Given the description of an element on the screen output the (x, y) to click on. 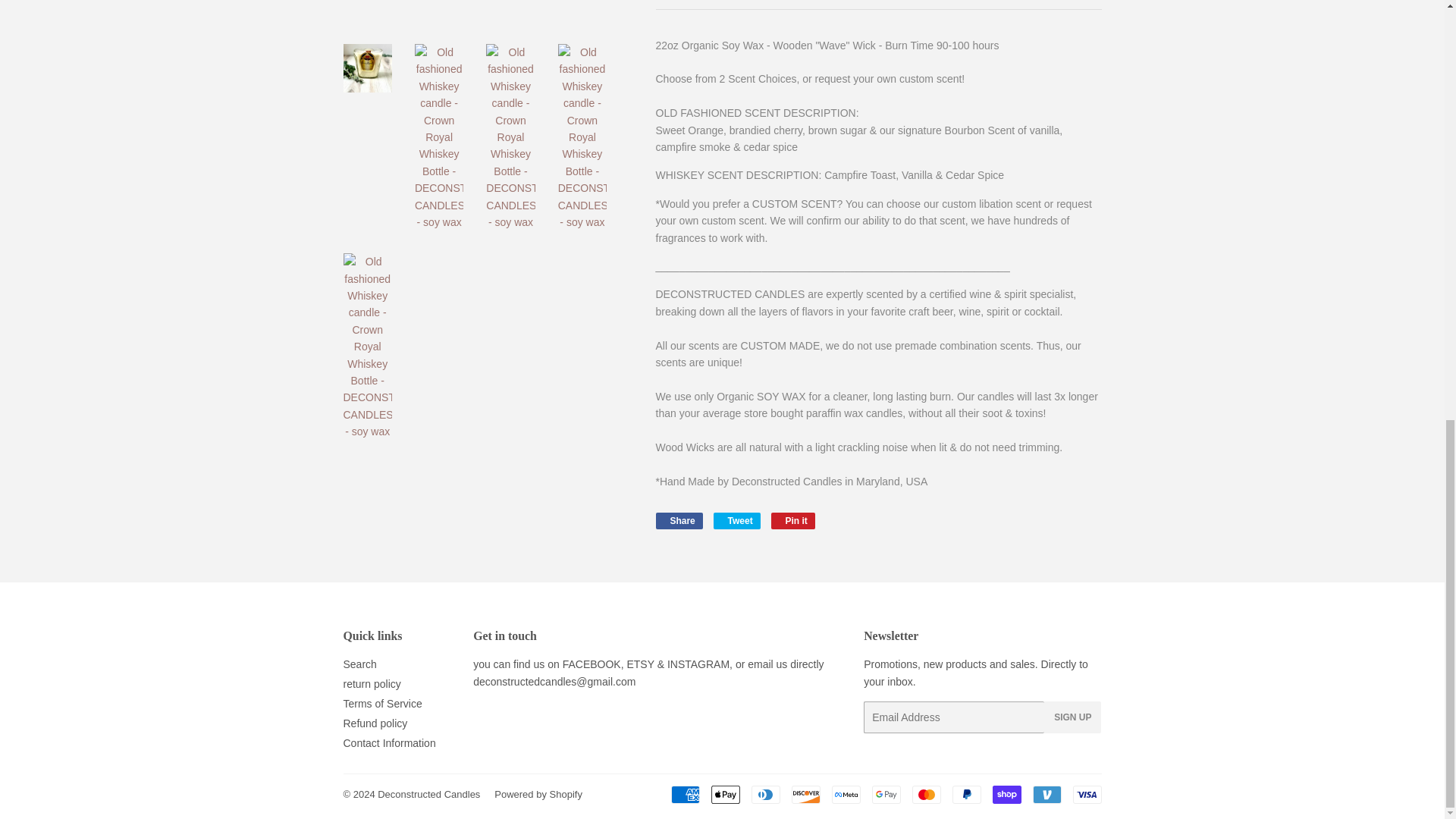
Tweet on Twitter (736, 520)
Share on Facebook (678, 520)
Discover (806, 794)
Diners Club (764, 794)
Visa (1085, 794)
Venmo (1046, 794)
Mastercard (925, 794)
Pin on Pinterest (793, 520)
Meta Pay (845, 794)
Google Pay (886, 794)
PayPal (966, 794)
American Express (683, 794)
Shop Pay (1005, 794)
Apple Pay (725, 794)
